Given the description of an element on the screen output the (x, y) to click on. 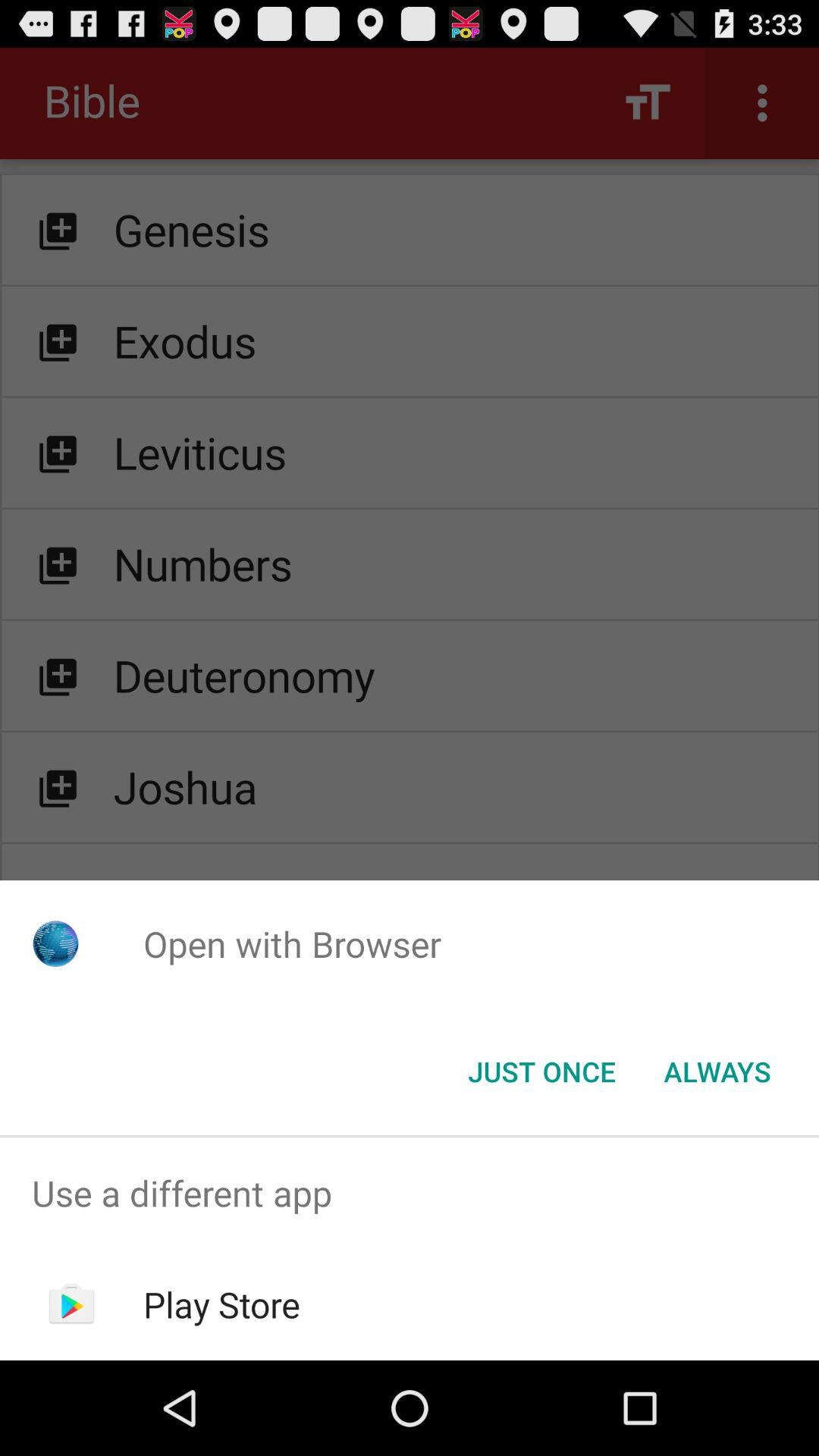
swipe to play store (221, 1304)
